Given the description of an element on the screen output the (x, y) to click on. 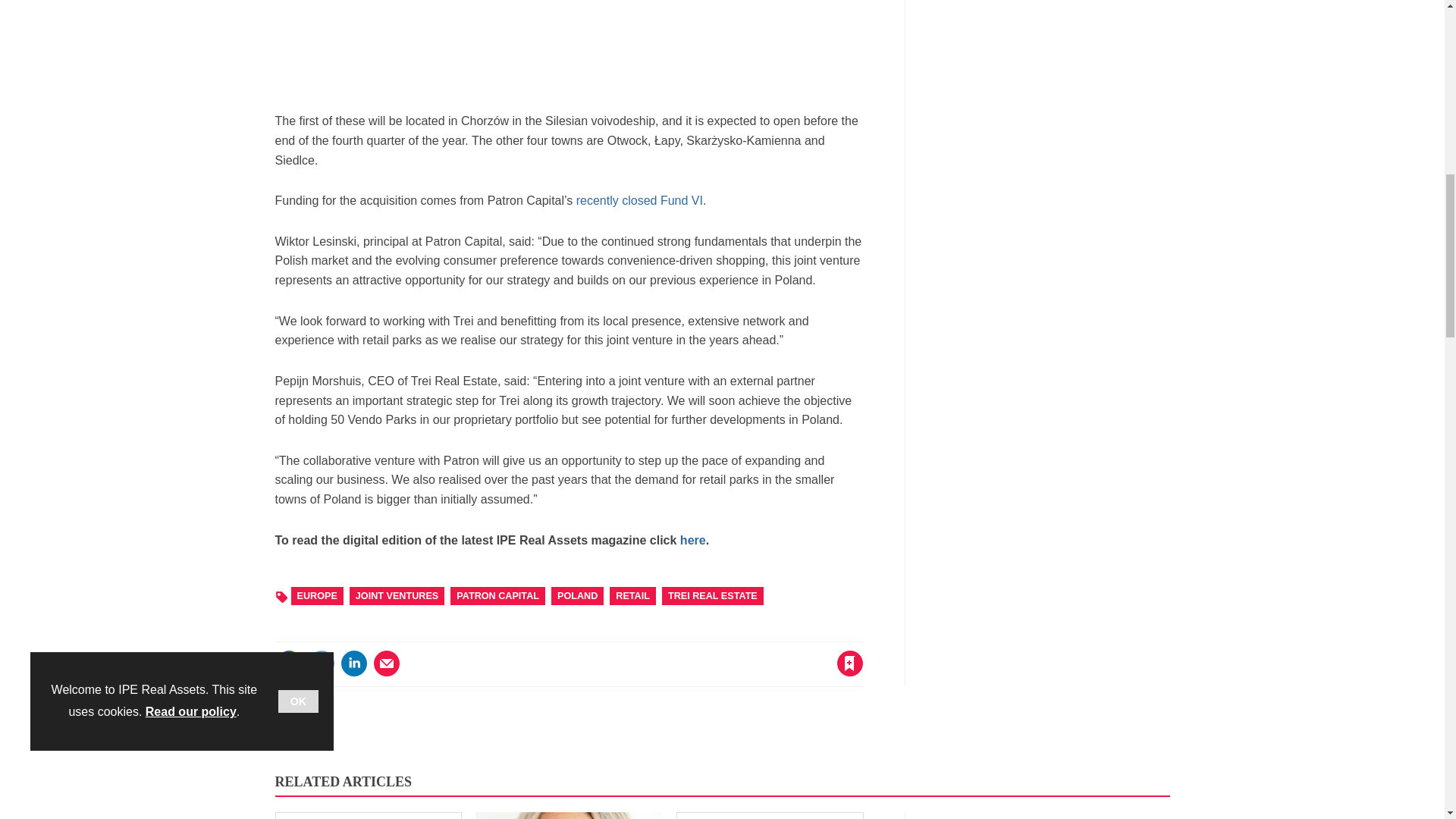
Email this article (386, 663)
Share this on Facebook (288, 663)
Share this on Linked in (352, 663)
Share this on Twitter (320, 663)
3rd party ad content (1055, 54)
3rd party ad content (568, 48)
